Given the description of an element on the screen output the (x, y) to click on. 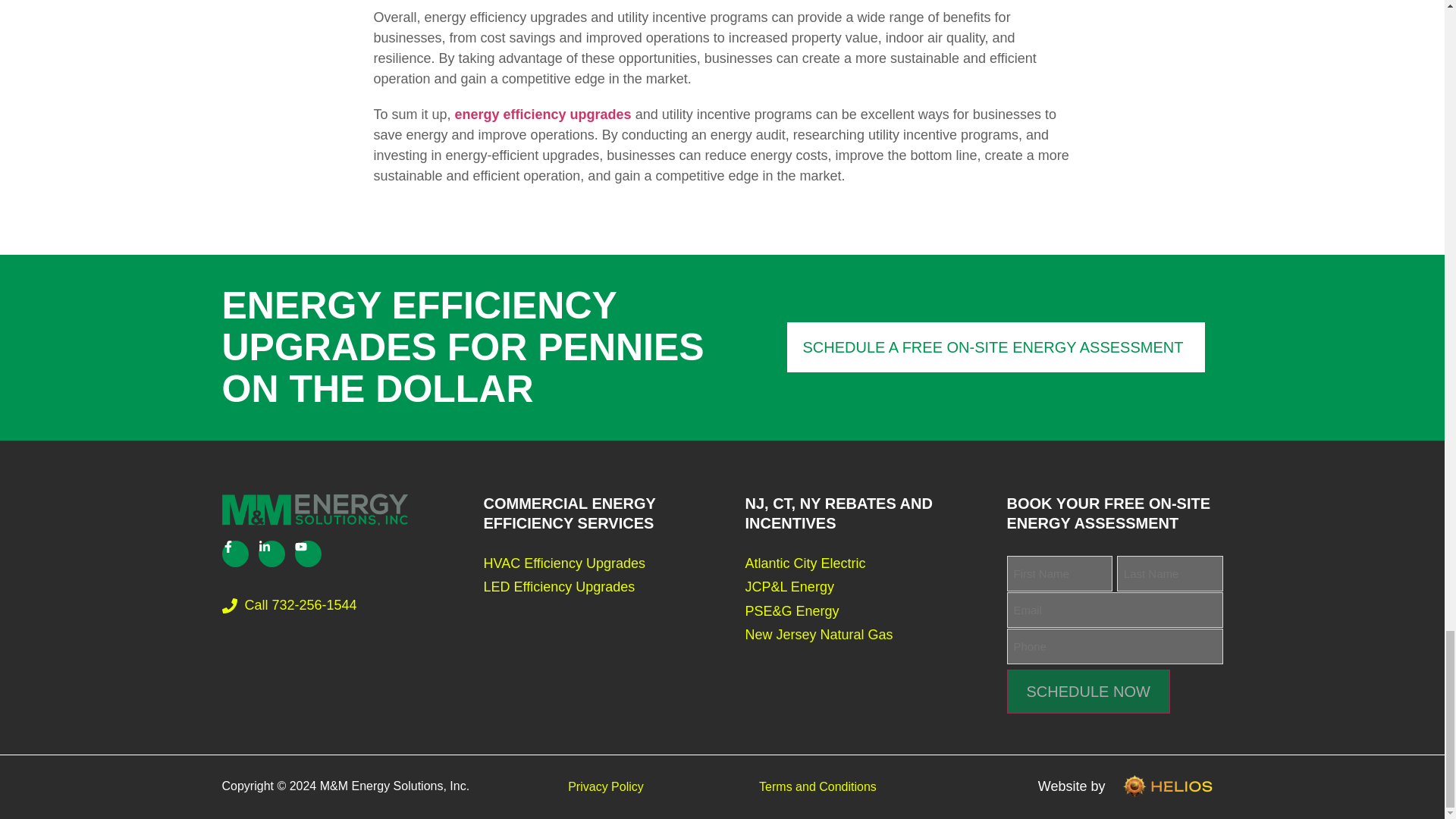
Schedule Now (1088, 691)
